Given the description of an element on the screen output the (x, y) to click on. 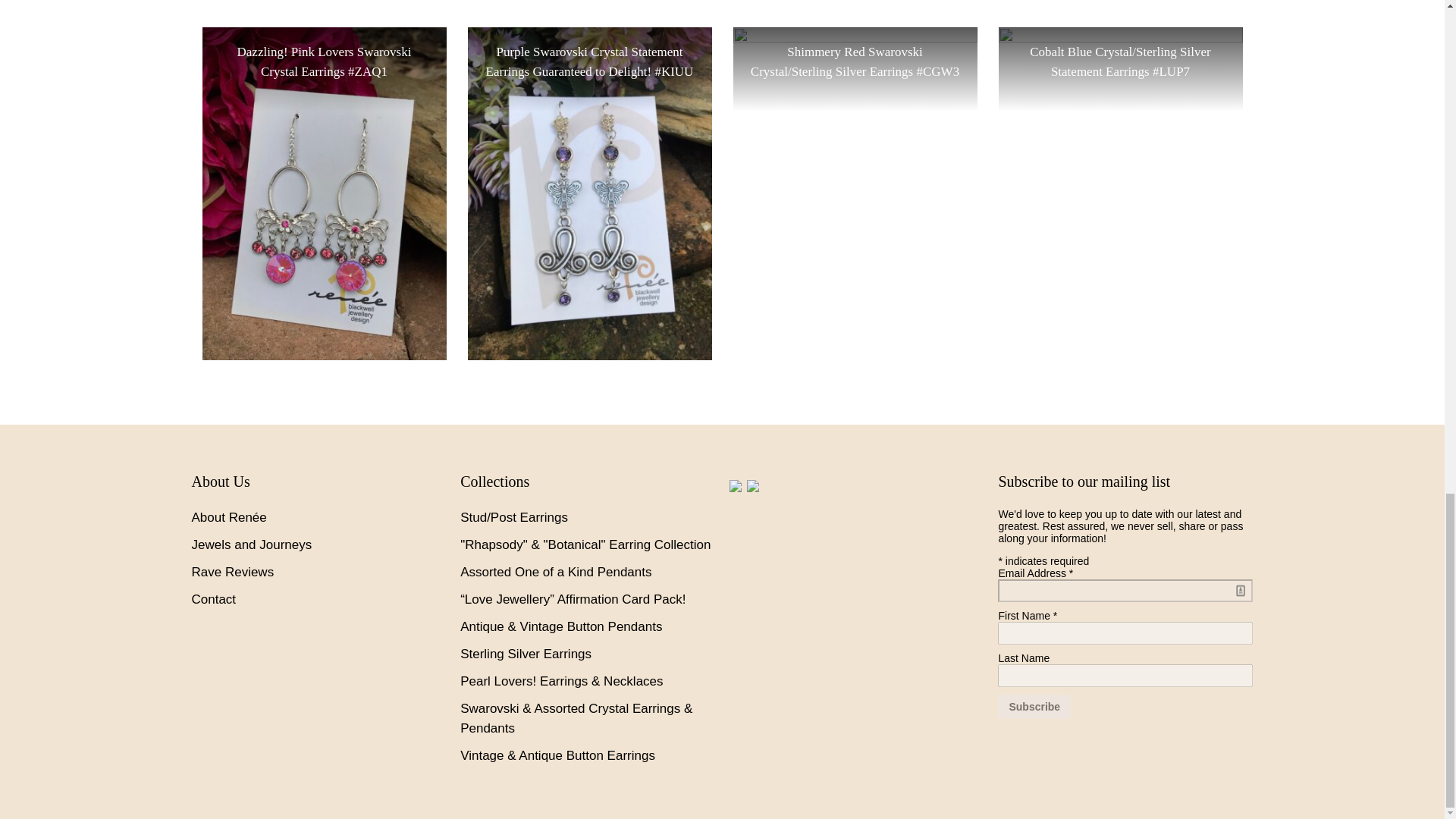
Rave Reviews (231, 572)
Subscribe (1033, 706)
Assorted One of a Kind Pendants (555, 572)
Subscribe (1033, 706)
Jewels and Journeys (250, 544)
Contact (212, 599)
Sterling Silver Earrings (525, 653)
